Given the description of an element on the screen output the (x, y) to click on. 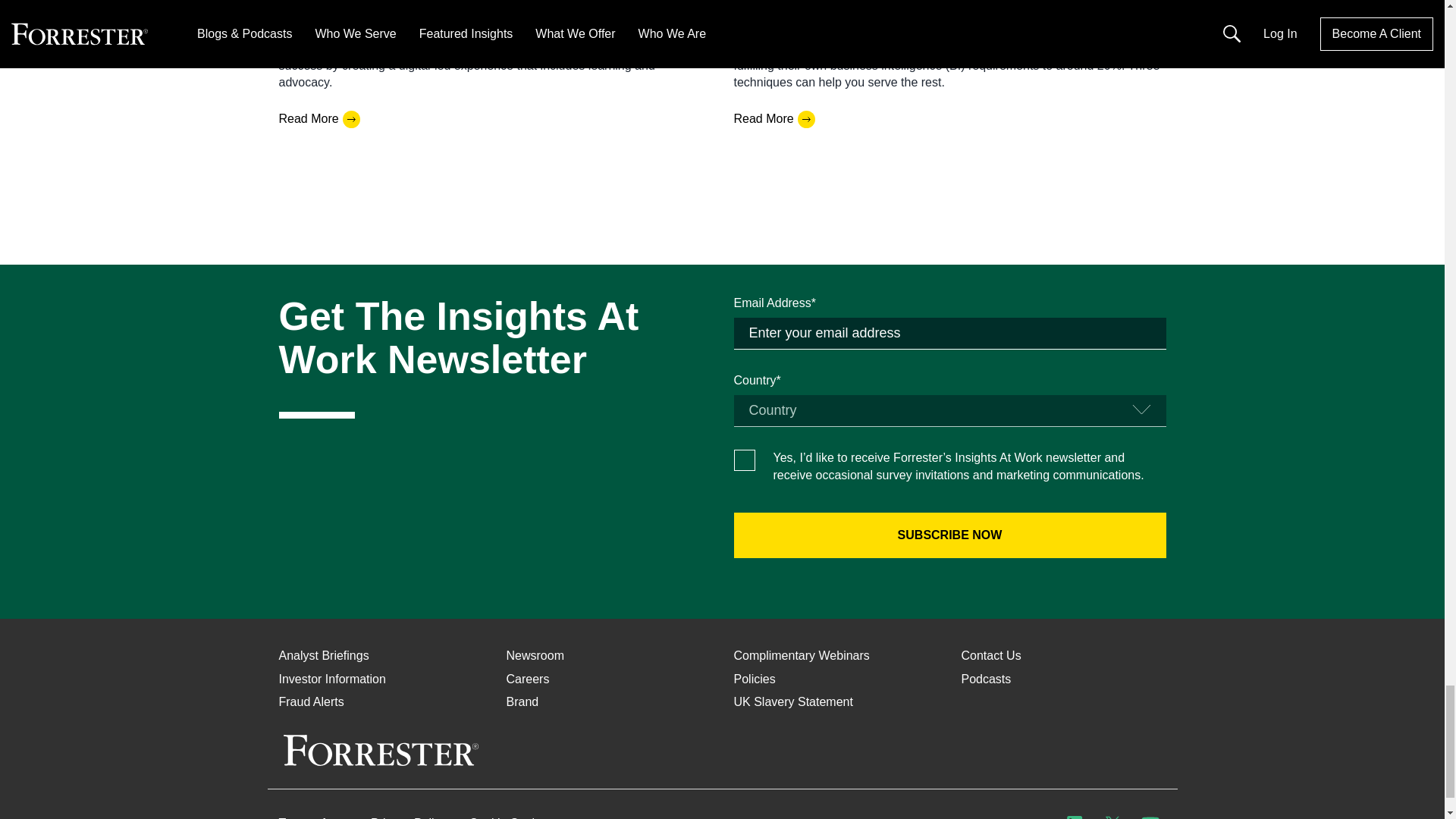
Subscribe Now (949, 534)
